Given the description of an element on the screen output the (x, y) to click on. 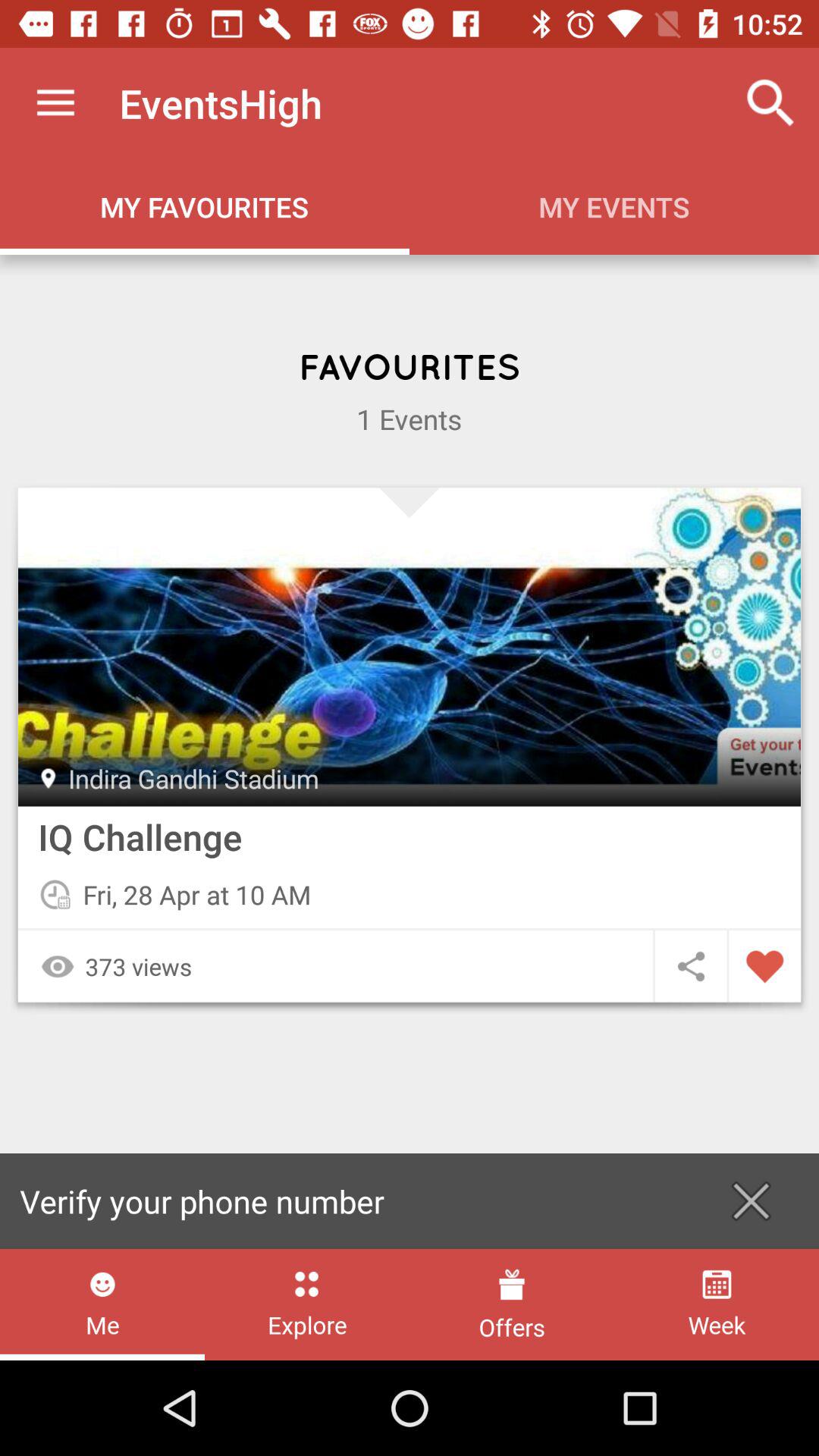
turn off the item below verify your phone (511, 1304)
